Given the description of an element on the screen output the (x, y) to click on. 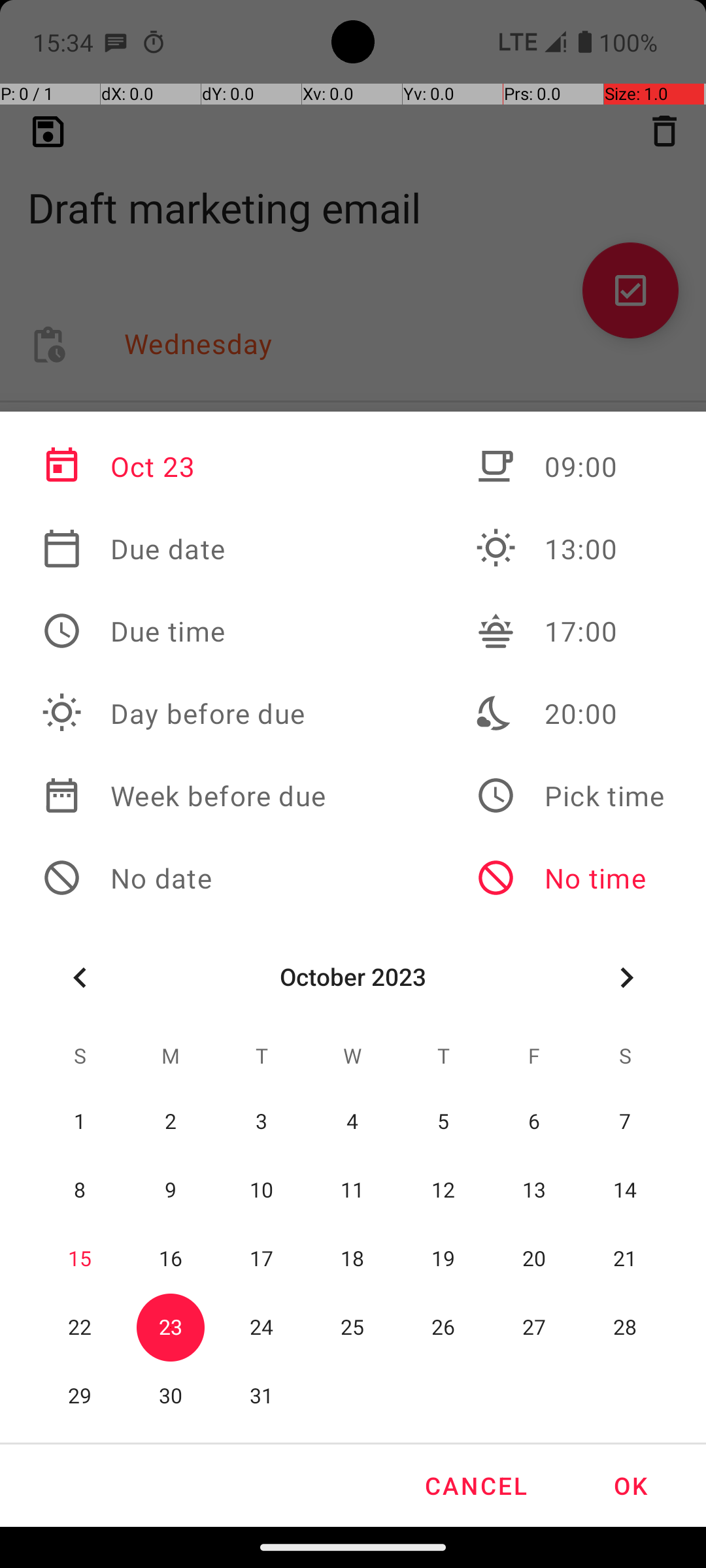
Oct 23 Element type: android.widget.CompoundButton (183, 466)
